Given the description of an element on the screen output the (x, y) to click on. 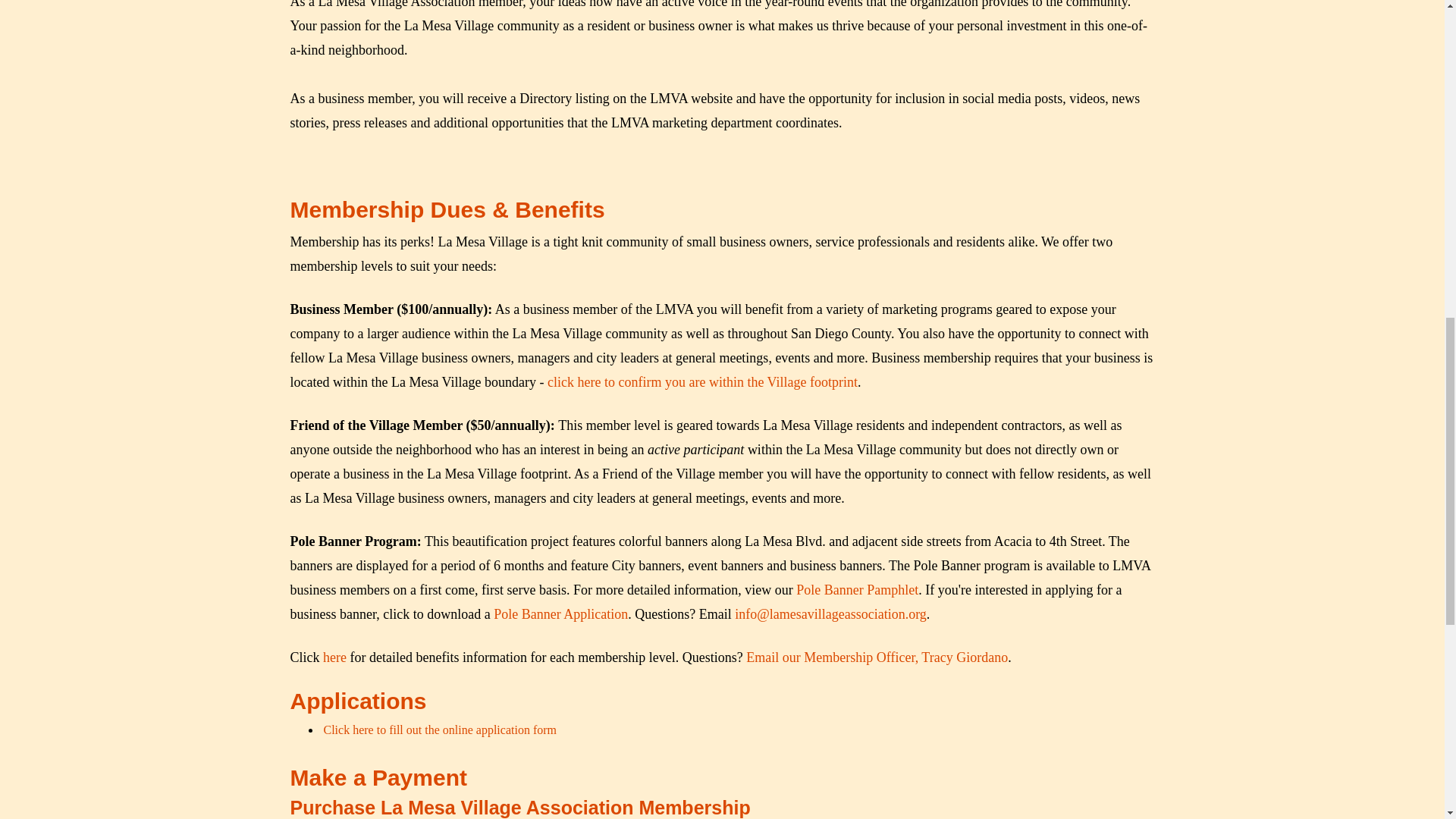
Email our Membership Officer, Tracy Giordano (876, 657)
Click here to fill out the online application form (439, 729)
Pole Banner Application (560, 613)
Pole Banner Pamphlet (857, 589)
here (334, 657)
click here to confirm (604, 381)
 you are within the Village footprint (759, 381)
